Given the description of an element on the screen output the (x, y) to click on. 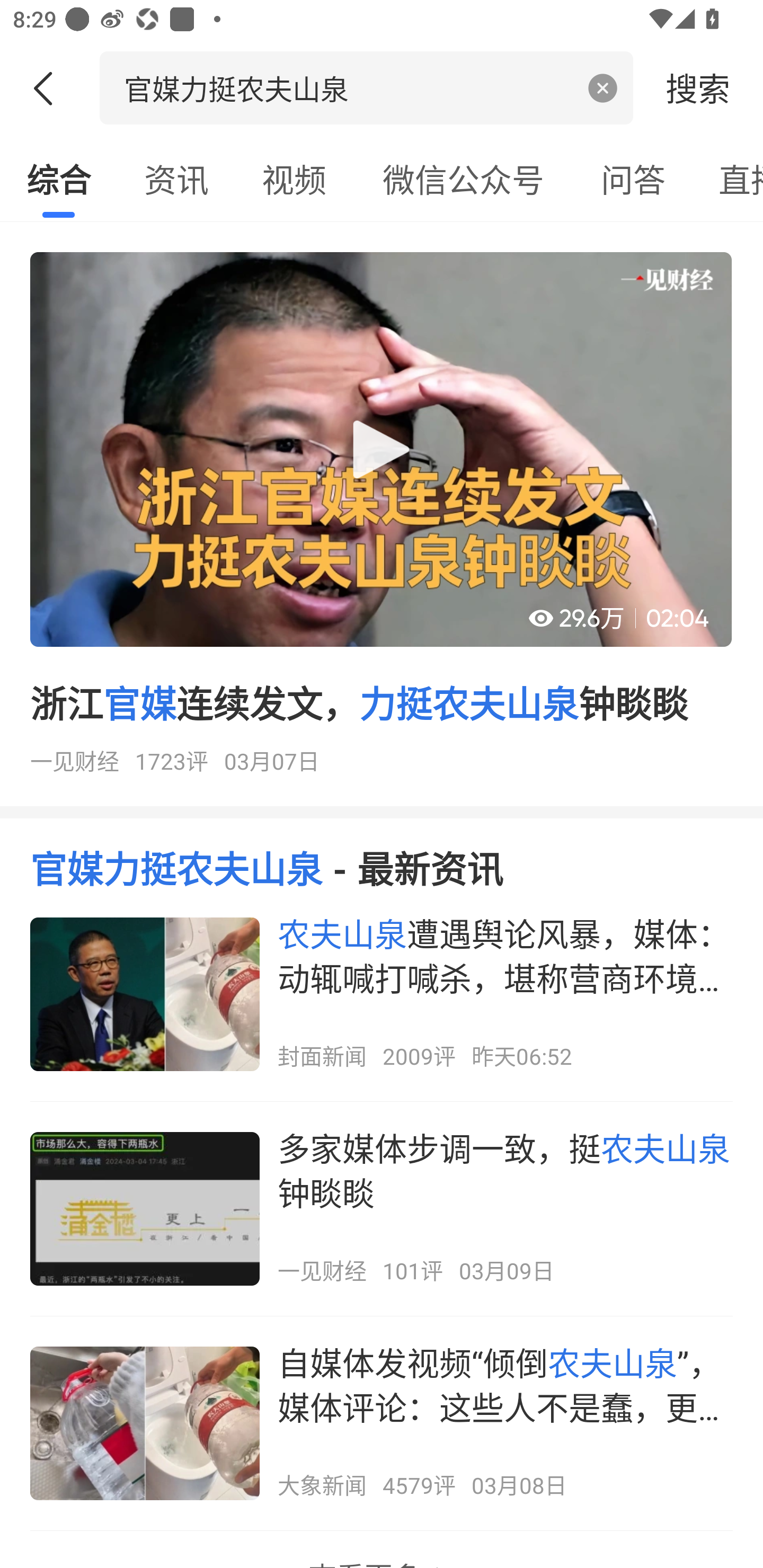
返回 (49, 87)
搜索 (698, 87)
官媒力挺农夫山泉 (347, 87)
清空 (602, 88)
已选中综合 (58, 179)
资讯，可选中 (176, 179)
视频，可选中 (293, 179)
微信公众号，可选中 (463, 179)
问答，可选中 (633, 179)
浙江官媒连续发文，力挺农夫山泉钟睒睒 (381, 520)
农夫山泉遭遇舆论风暴，媒体：动辄喊打喊杀，堪称营商环境的致命毒药 (381, 993)
多家媒体步调一致，挺农夫山泉钟睒睒 (381, 1208)
自媒体发视频“倾倒农夫山泉”，媒体评论：这些人不是蠢，更不是爱国 (381, 1423)
